Given the description of an element on the screen output the (x, y) to click on. 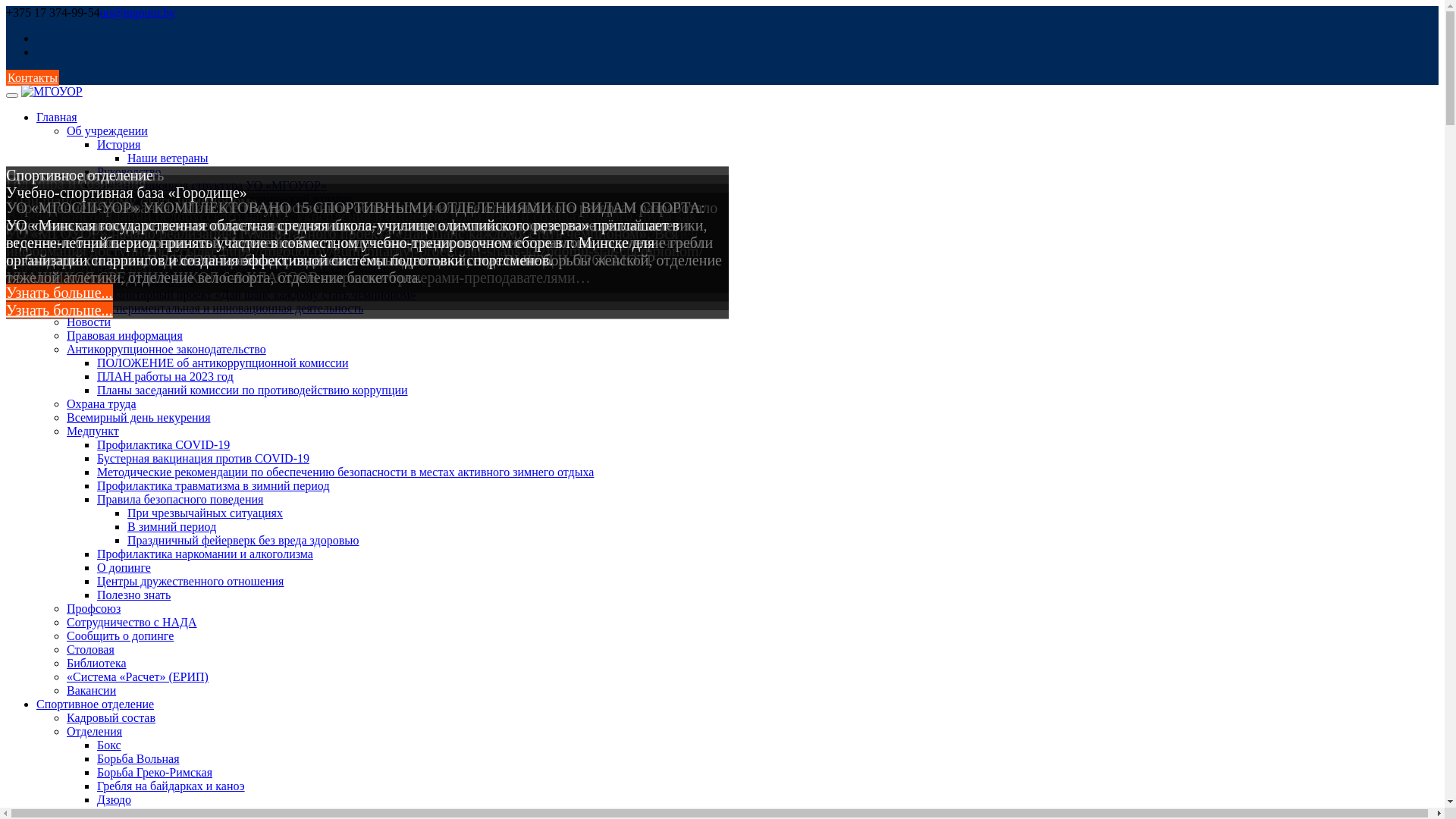
uo@mgouor.by Element type: text (137, 12)
